Given the description of an element on the screen output the (x, y) to click on. 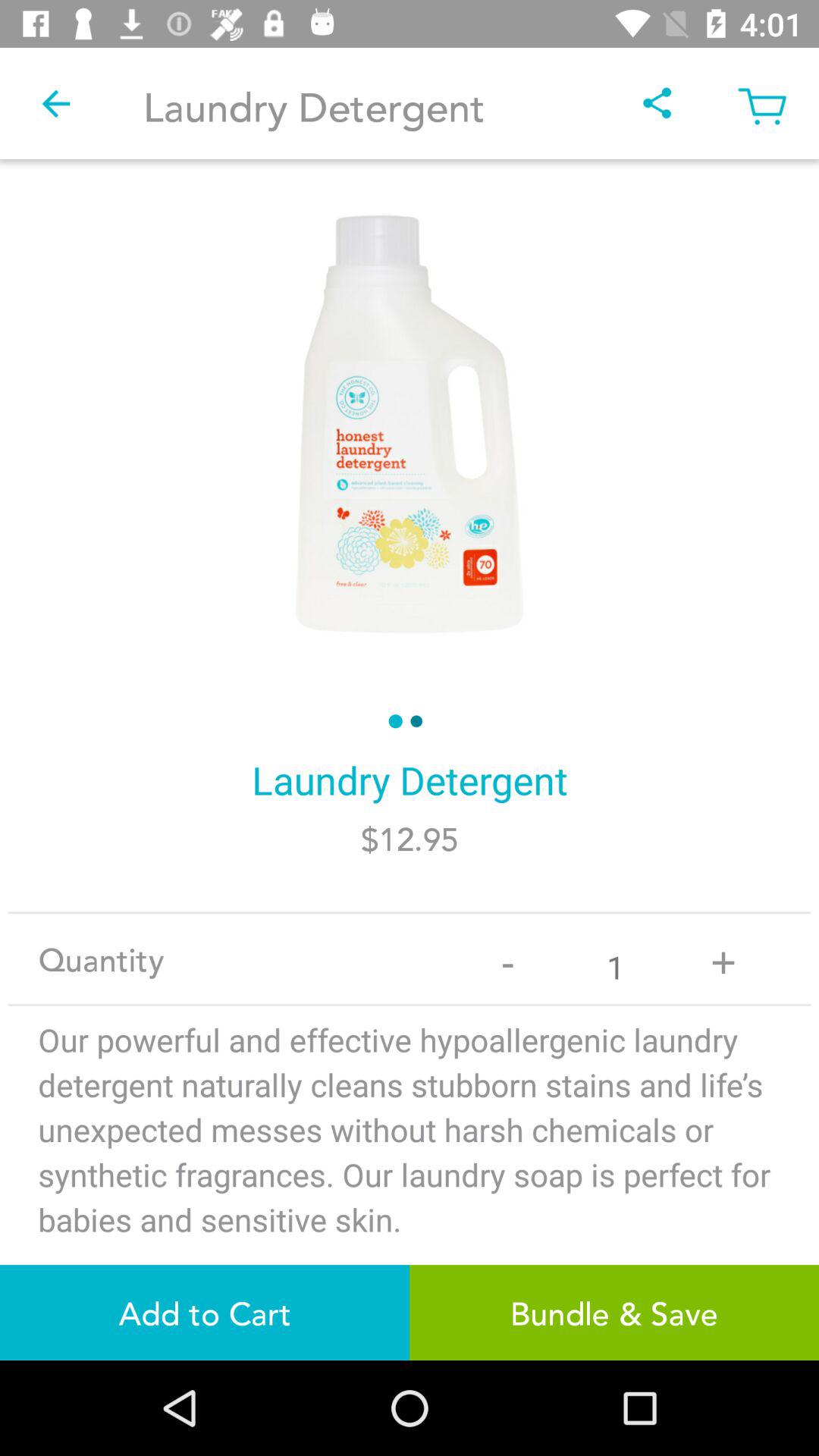
tap the item to the left of 1 (507, 958)
